Given the description of an element on the screen output the (x, y) to click on. 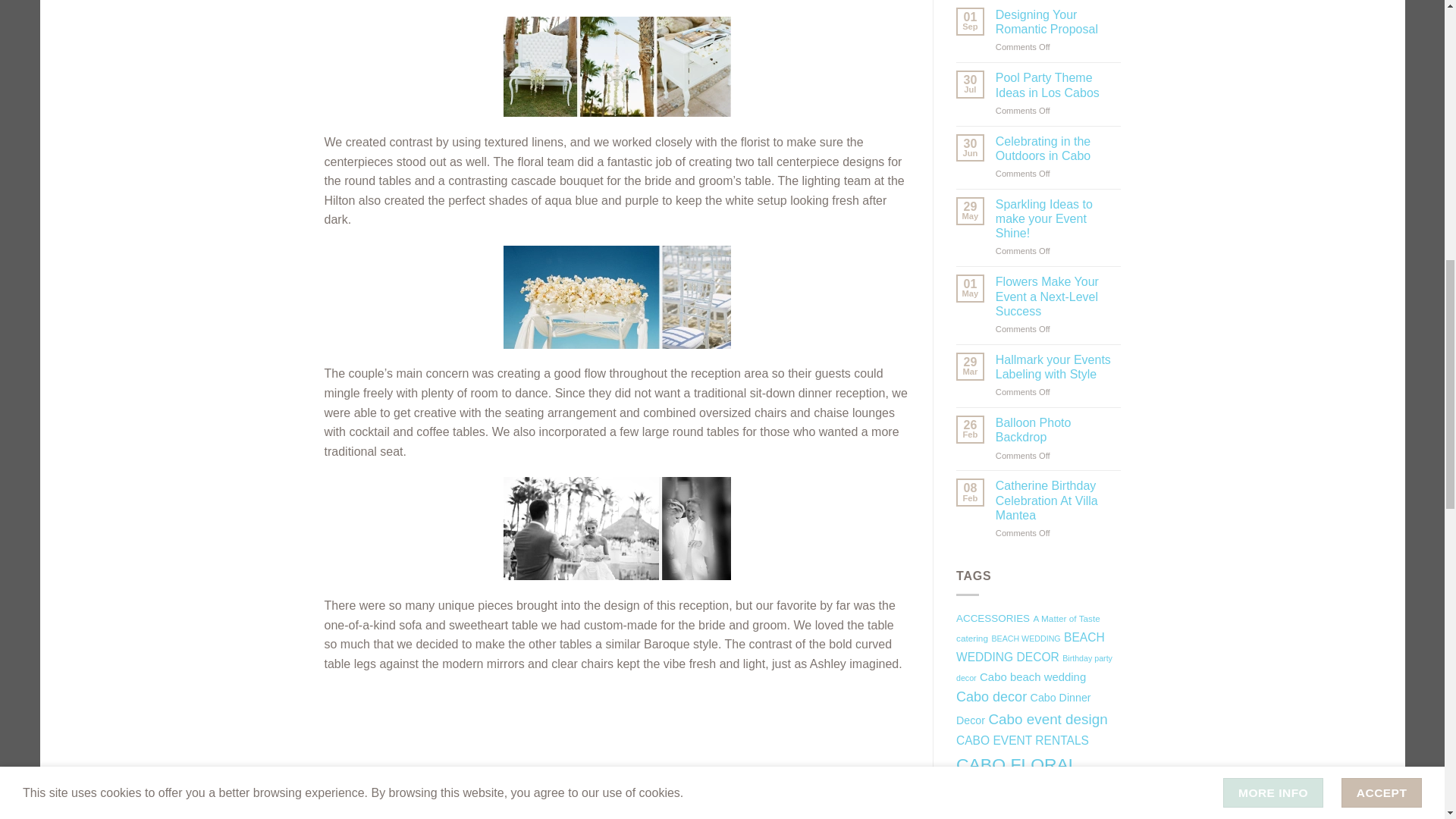
Flowers Make Your Event a Next-Level Success (1058, 296)
Pool Party Theme Ideas in Los Cabos (1058, 84)
Celebrating in the Outdoors in Cabo (1058, 148)
Designing Your Romantic Proposal (1058, 21)
Sparkling Ideas to make your Event Shine! (1058, 218)
